Given the description of an element on the screen output the (x, y) to click on. 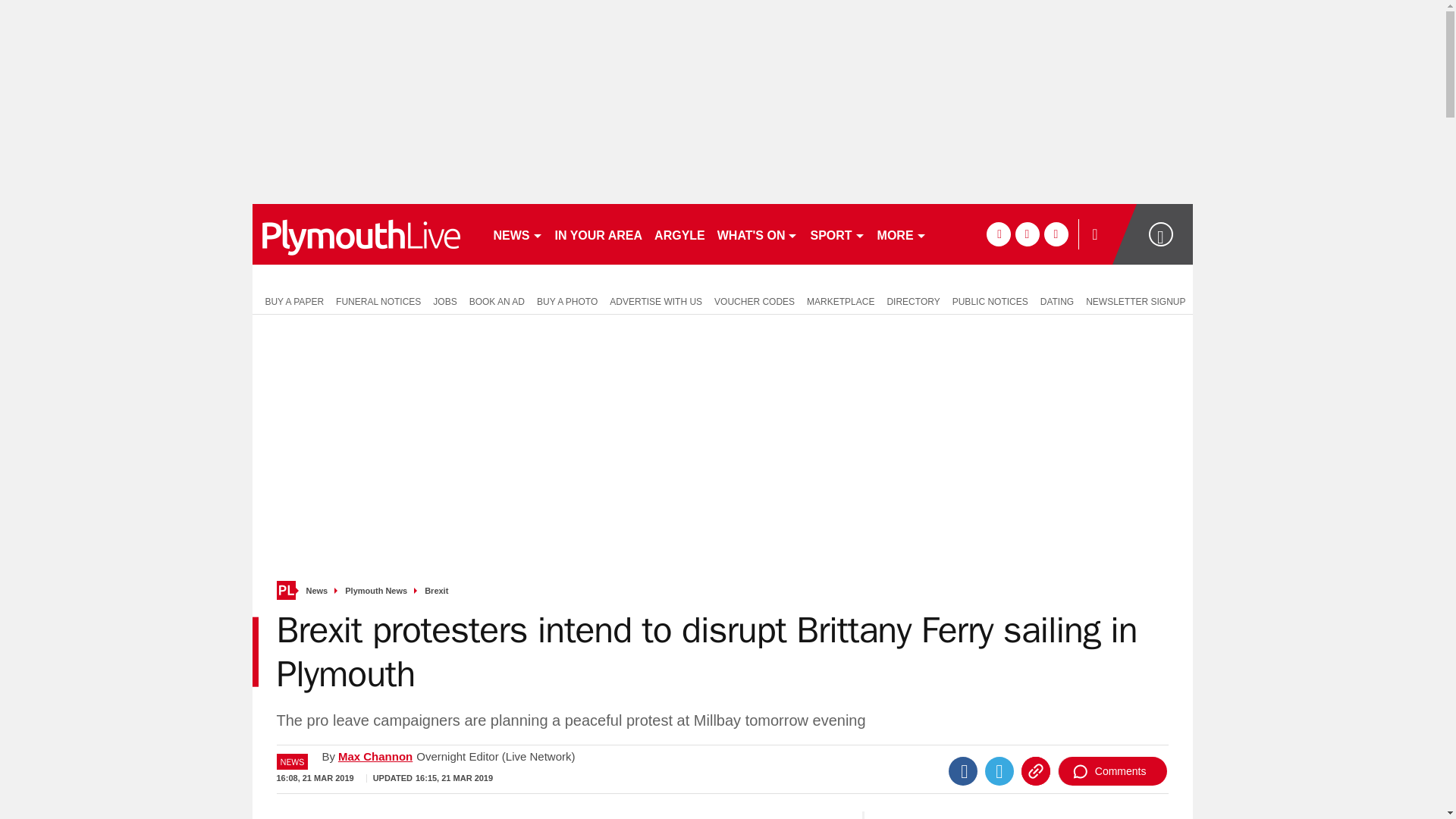
instagram (1055, 233)
MORE (901, 233)
plymouthherald (365, 233)
ARGYLE (679, 233)
WHAT'S ON (758, 233)
Comments (1112, 770)
Twitter (999, 770)
Facebook (962, 770)
SPORT (836, 233)
twitter (1026, 233)
